Given the description of an element on the screen output the (x, y) to click on. 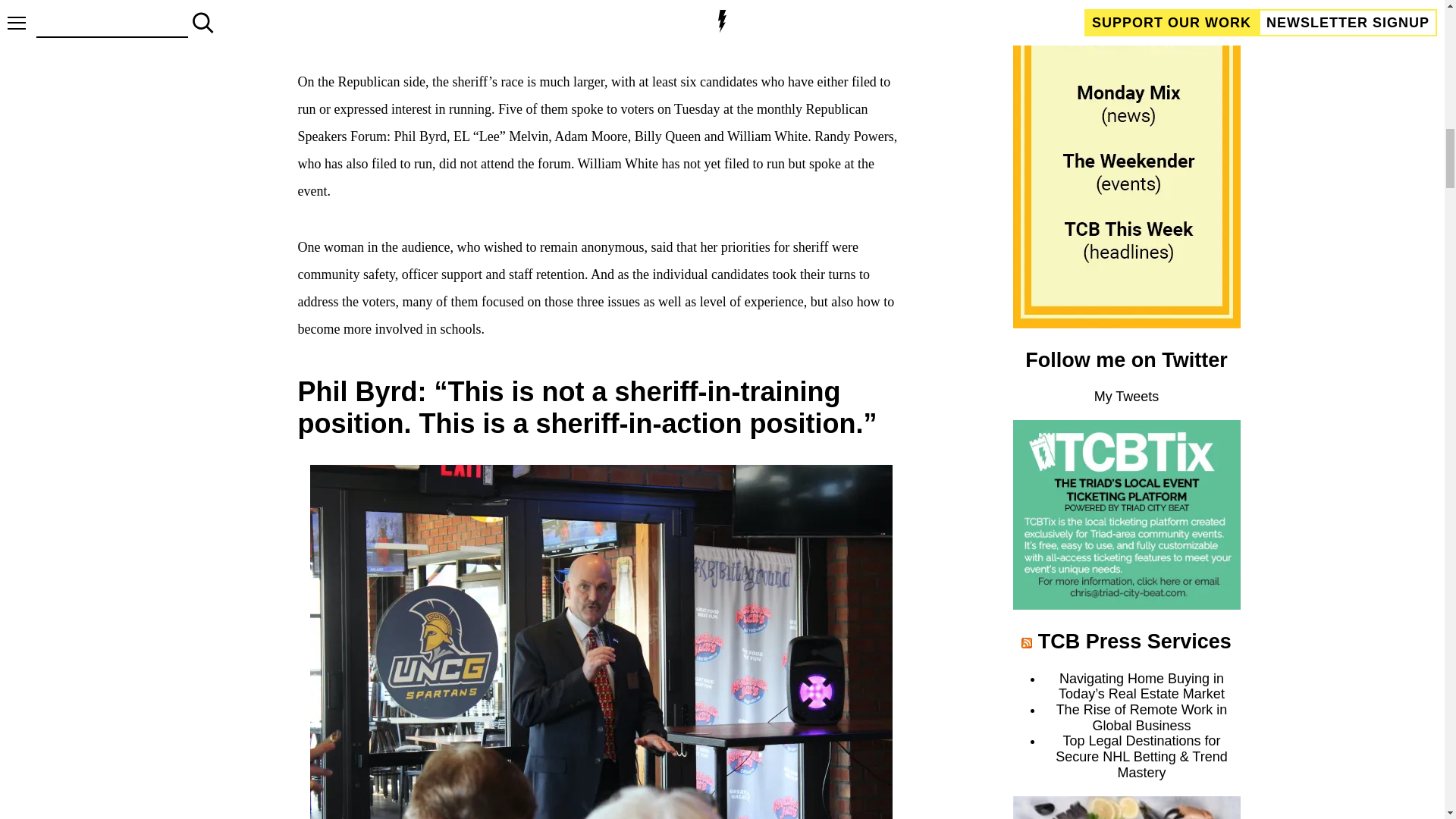
TCB Press Services (1134, 640)
My Tweets (1126, 396)
The Rise of Remote Work in Global Business (1142, 717)
